Given the description of an element on the screen output the (x, y) to click on. 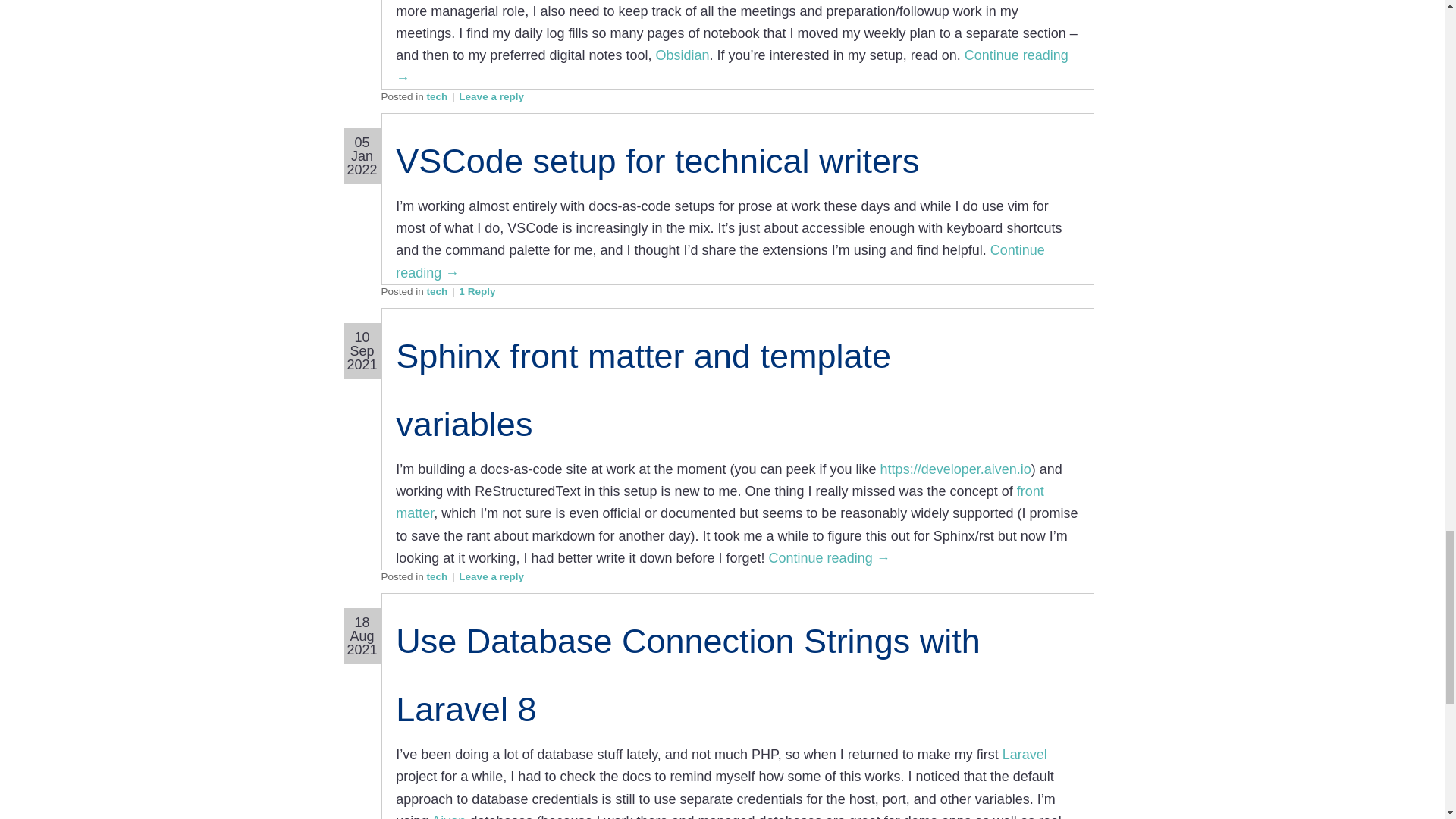
Permalink to VSCode setup for technical writers (657, 160)
Permalink to Sphinx front matter and template variables (643, 389)
Permalink to Use Database Connection Strings with Laravel 8 (687, 674)
